Given the description of an element on the screen output the (x, y) to click on. 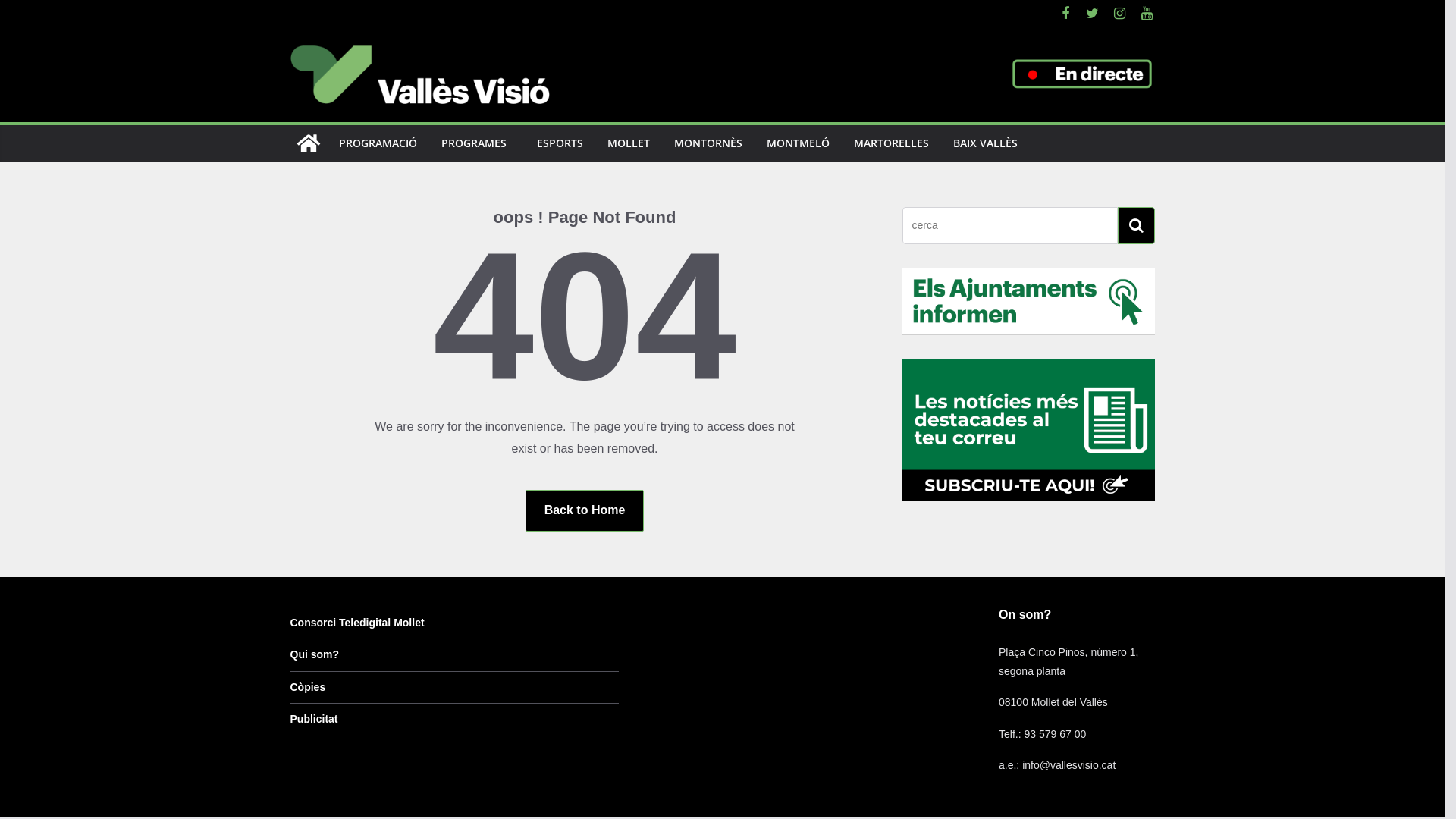
Qui som? Element type: text (313, 654)
ESPORTS Element type: text (559, 142)
MARTORELLES Element type: text (890, 142)
MOLLET Element type: text (627, 142)
Consorci Teledigital Mollet Element type: text (356, 622)
Publicitat Element type: text (313, 718)
Back to Home Element type: text (584, 510)
PROGRAMES Element type: text (473, 142)
